Given the description of an element on the screen output the (x, y) to click on. 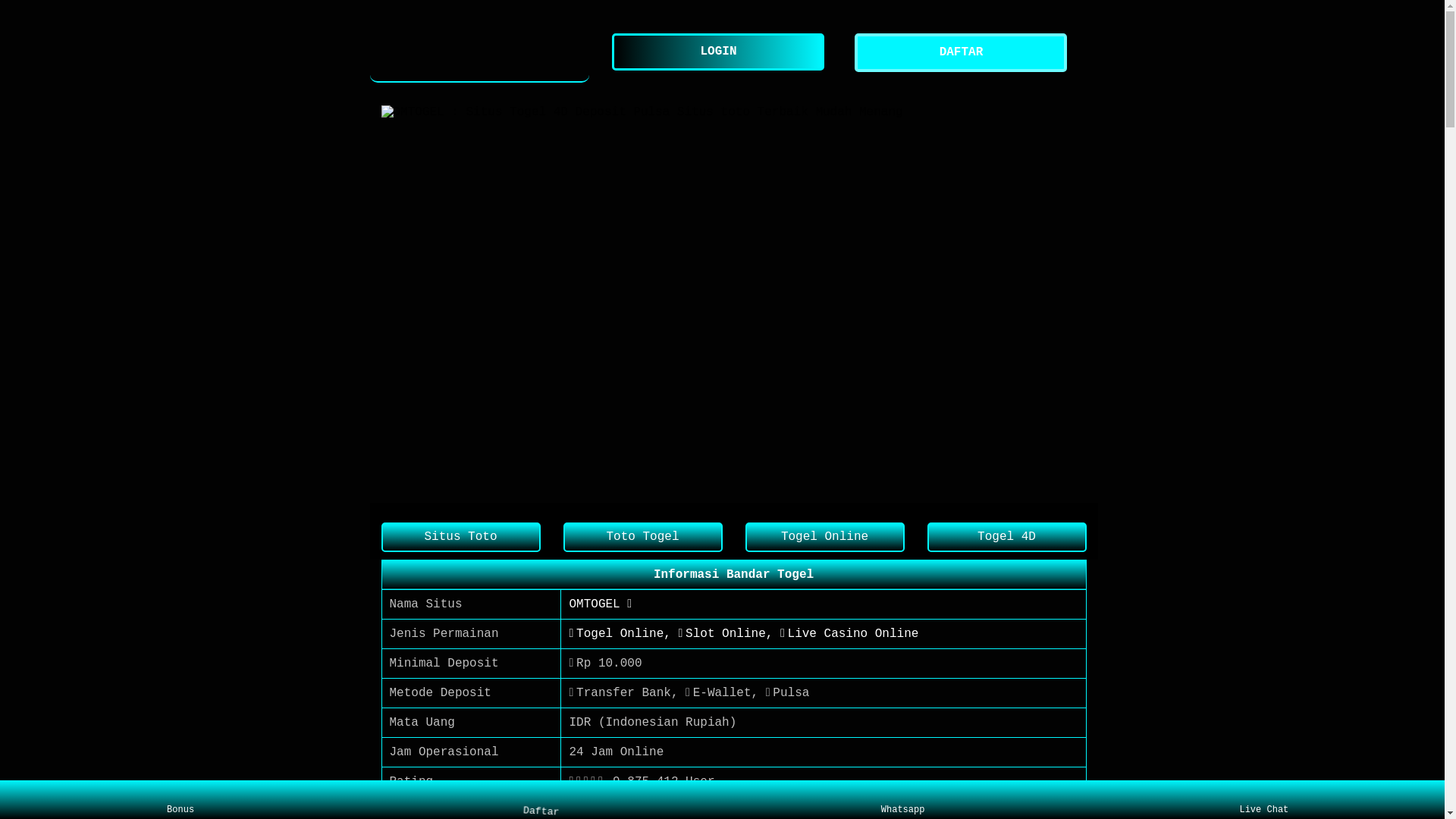
Bonus Element type: text (180, 799)
Previous item in carousel (1 of 1) Element type: hover (392, 303)
Daftar Element type: text (538, 796)
Whatsapp Element type: text (902, 799)
Live Chat Element type: text (1263, 799)
OMTOGEL Element type: hover (479, 52)
Togel 4D Element type: text (1005, 537)
Next item in carousel (1 of 1) Element type: hover (1073, 303)
LOGIN Element type: text (721, 51)
Situs Toto Element type: text (459, 537)
KLIK DISINI Element type: text (608, 811)
DAFTAR Element type: text (964, 52)
Togel Online Element type: text (823, 537)
Toto Togel Element type: text (641, 537)
